Given the description of an element on the screen output the (x, y) to click on. 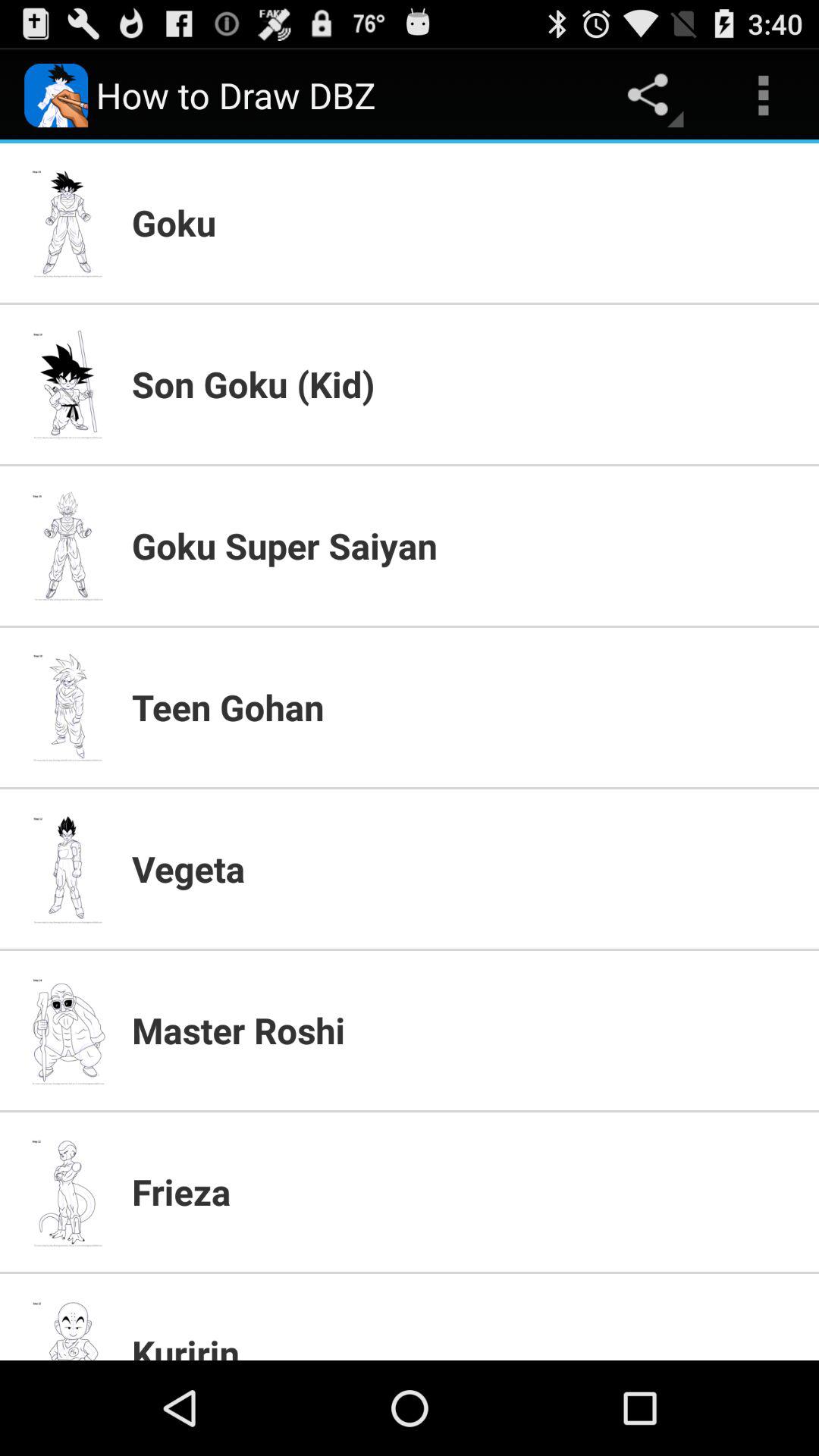
scroll until son goku (kid) (465, 384)
